Given the description of an element on the screen output the (x, y) to click on. 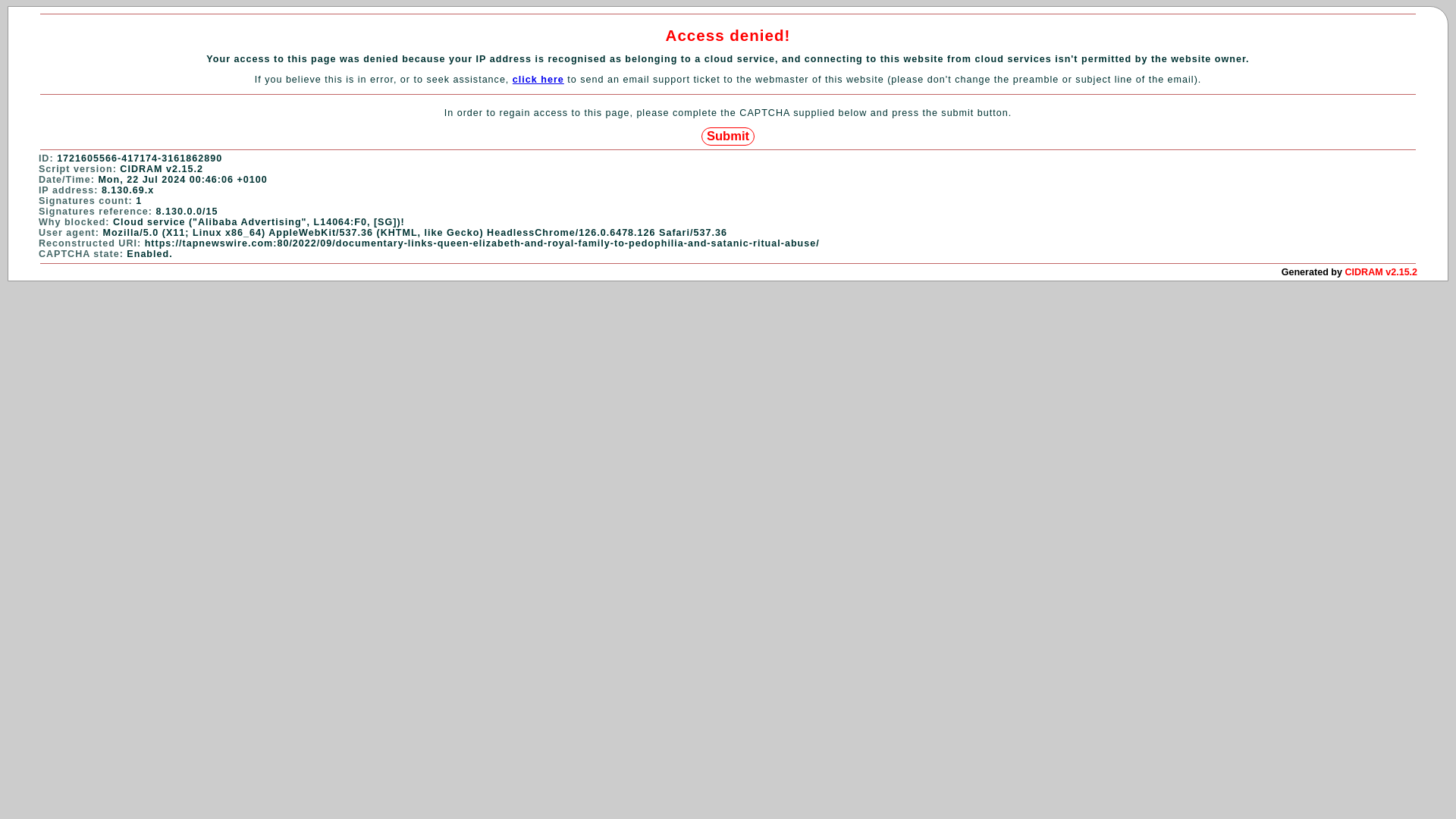
Submit (727, 136)
Submit (727, 136)
click here (538, 79)
